Given the description of an element on the screen output the (x, y) to click on. 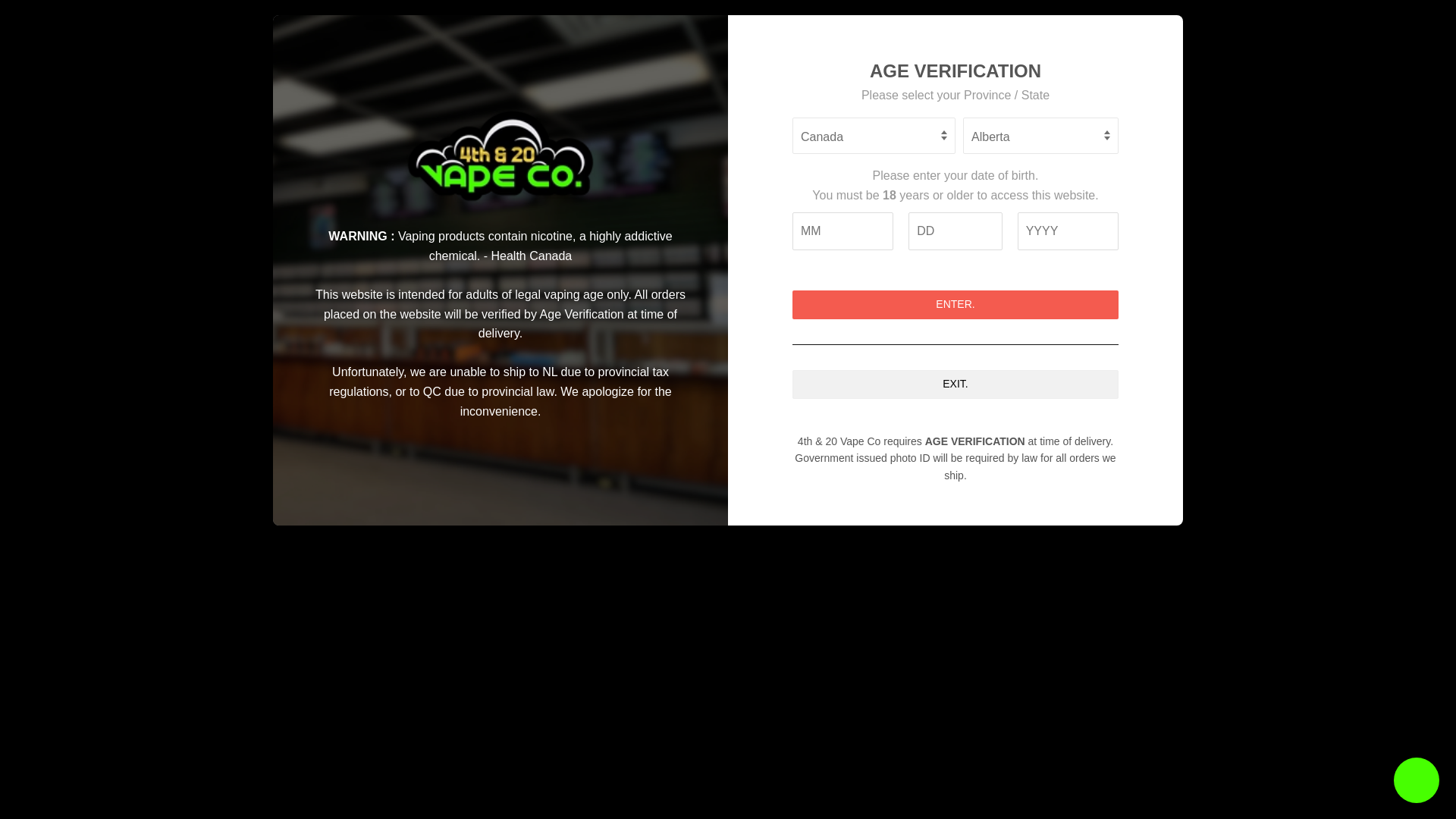
Search (1005, 88)
Hey Gorgeous Nic Salts True Blue (1005, 699)
Vortex True Blue Iced Freebase Nicotine (879, 665)
CART (1070, 87)
Sign in (1007, 51)
Create an Account (1072, 51)
Shopify online store chat (1416, 781)
1 (698, 470)
